Given the description of an element on the screen output the (x, y) to click on. 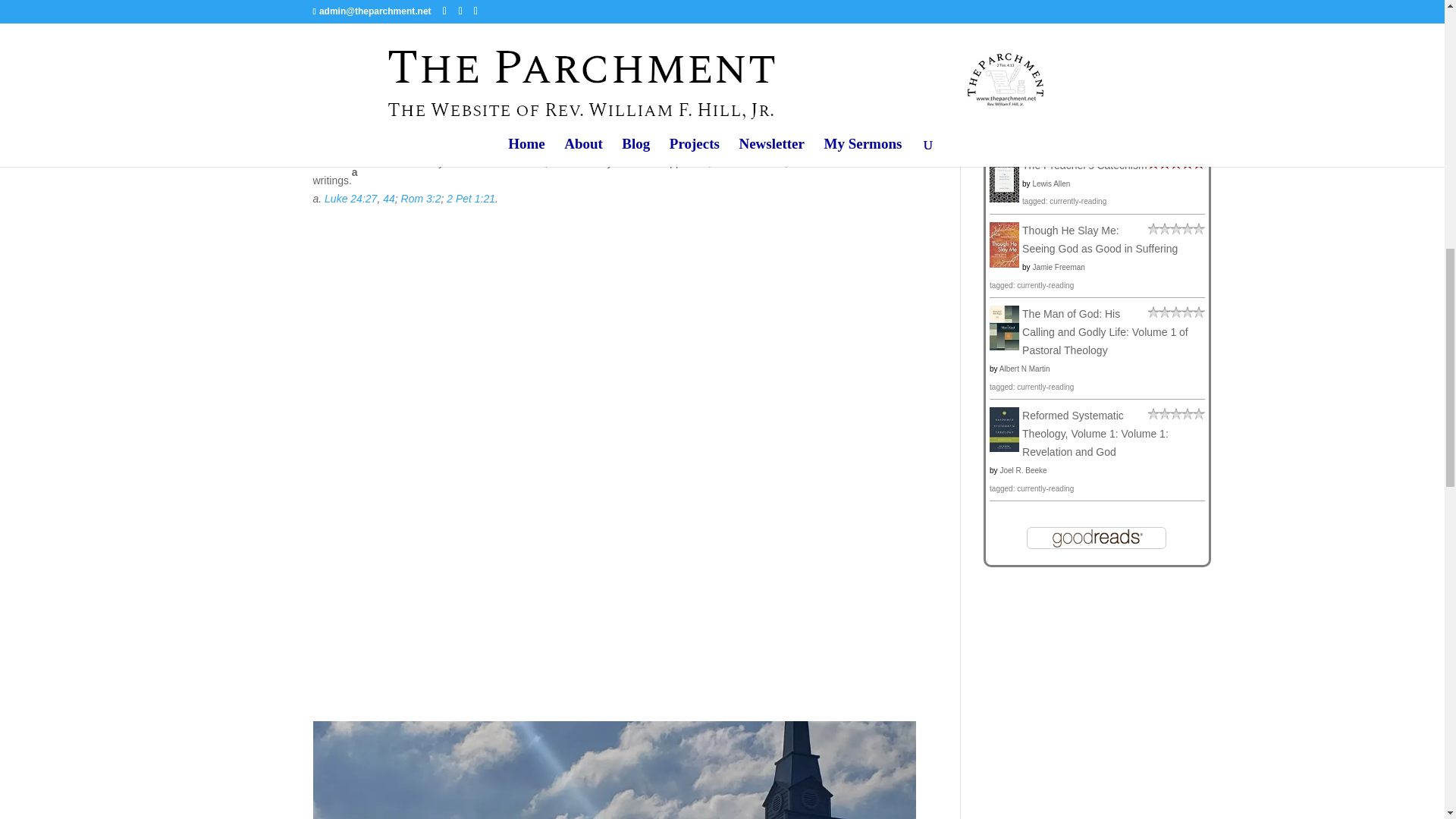
2 Pet 1:21 (470, 198)
Rom 3:2 (421, 198)
it was amazing (1176, 164)
Eph 2:20 (422, 126)
Luke 16:29 (350, 126)
2 Tim 3:16 (473, 126)
The Preacher's Catechism (1004, 198)
Behind A Frowning Providence (1004, 116)
31 (388, 126)
